Given the description of an element on the screen output the (x, y) to click on. 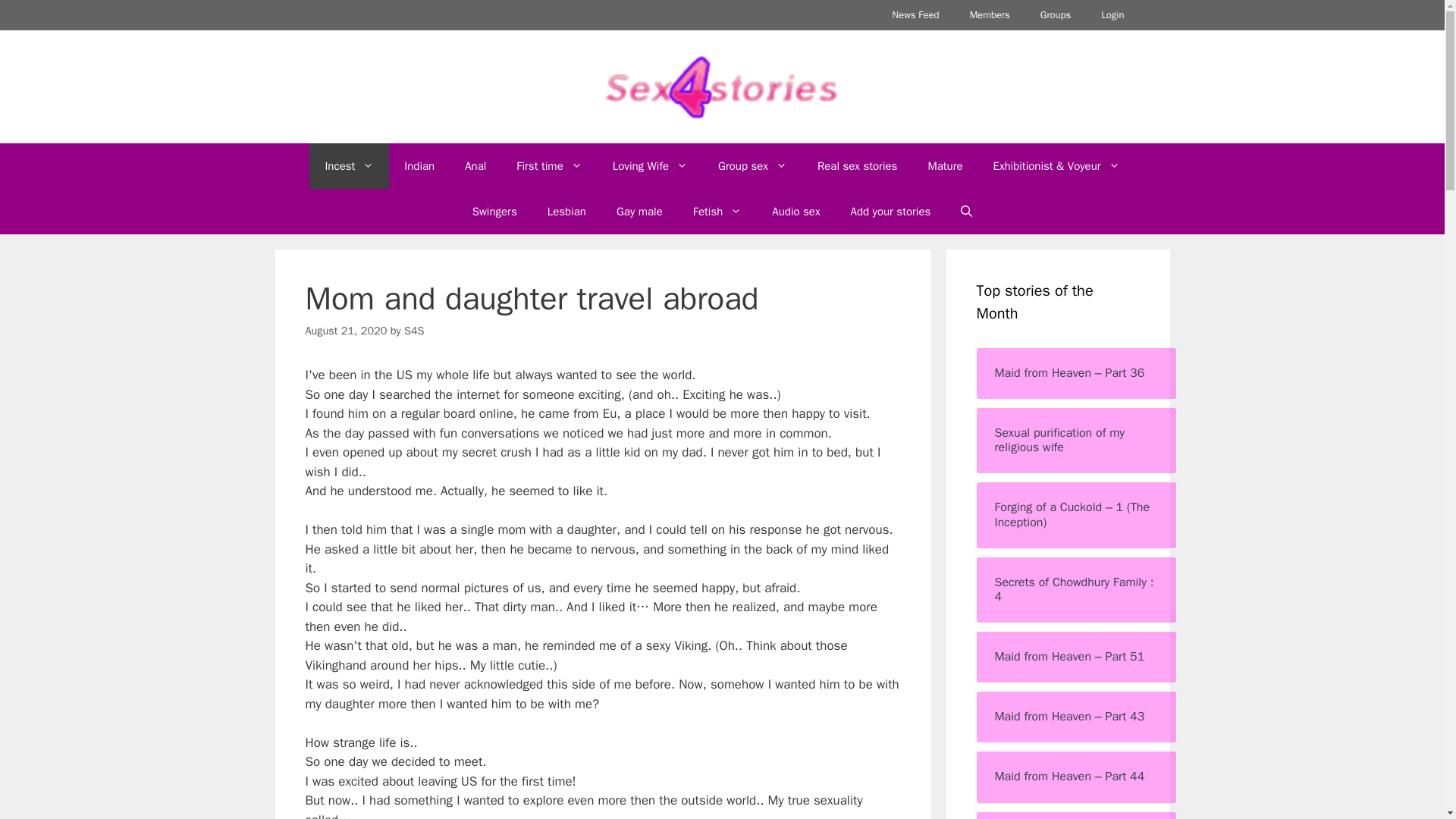
Members (990, 15)
View all posts by S4S (414, 330)
Login (1112, 15)
Groups (1055, 15)
News Feed (916, 15)
